Given the description of an element on the screen output the (x, y) to click on. 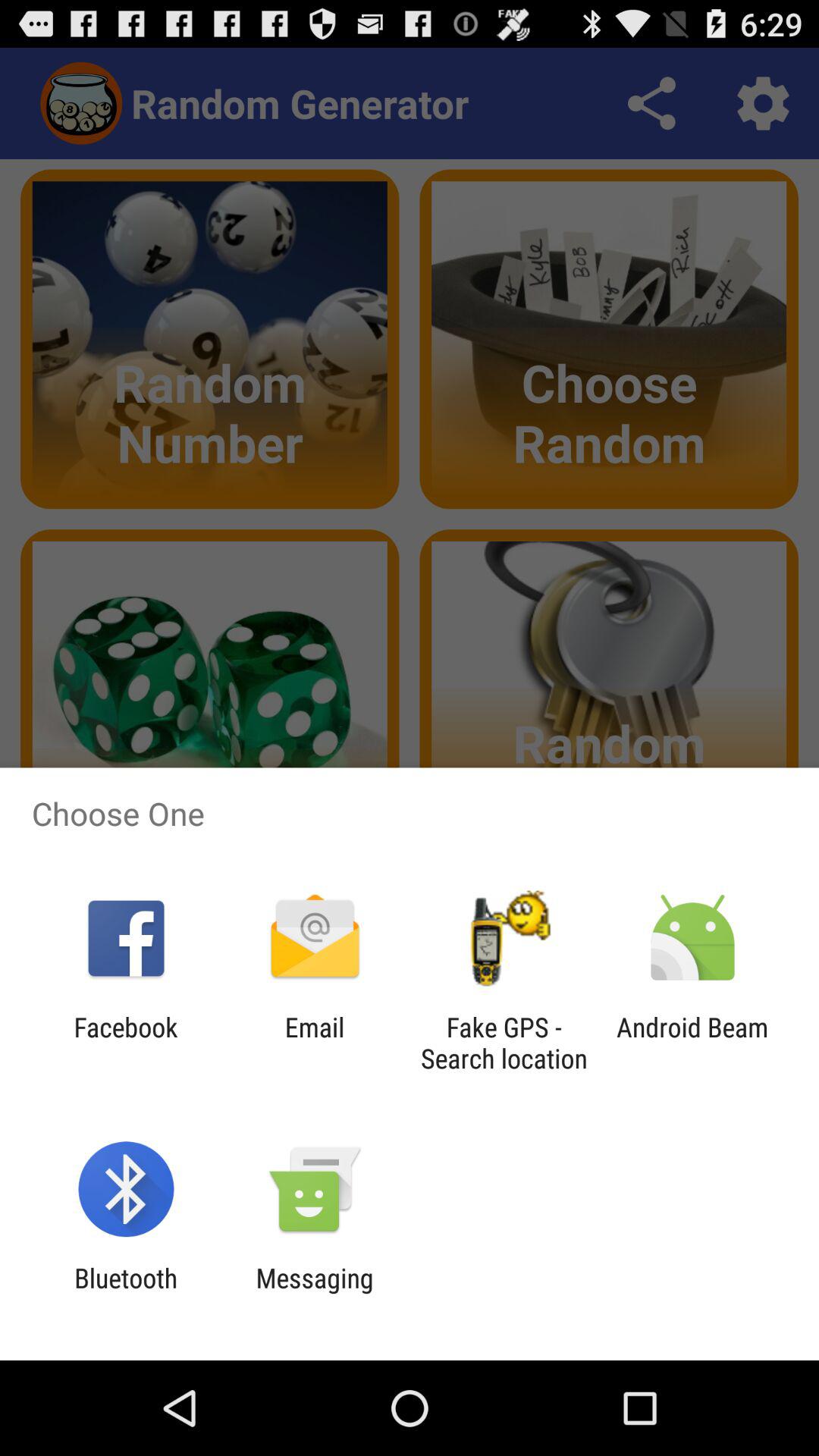
press android beam icon (692, 1042)
